Given the description of an element on the screen output the (x, y) to click on. 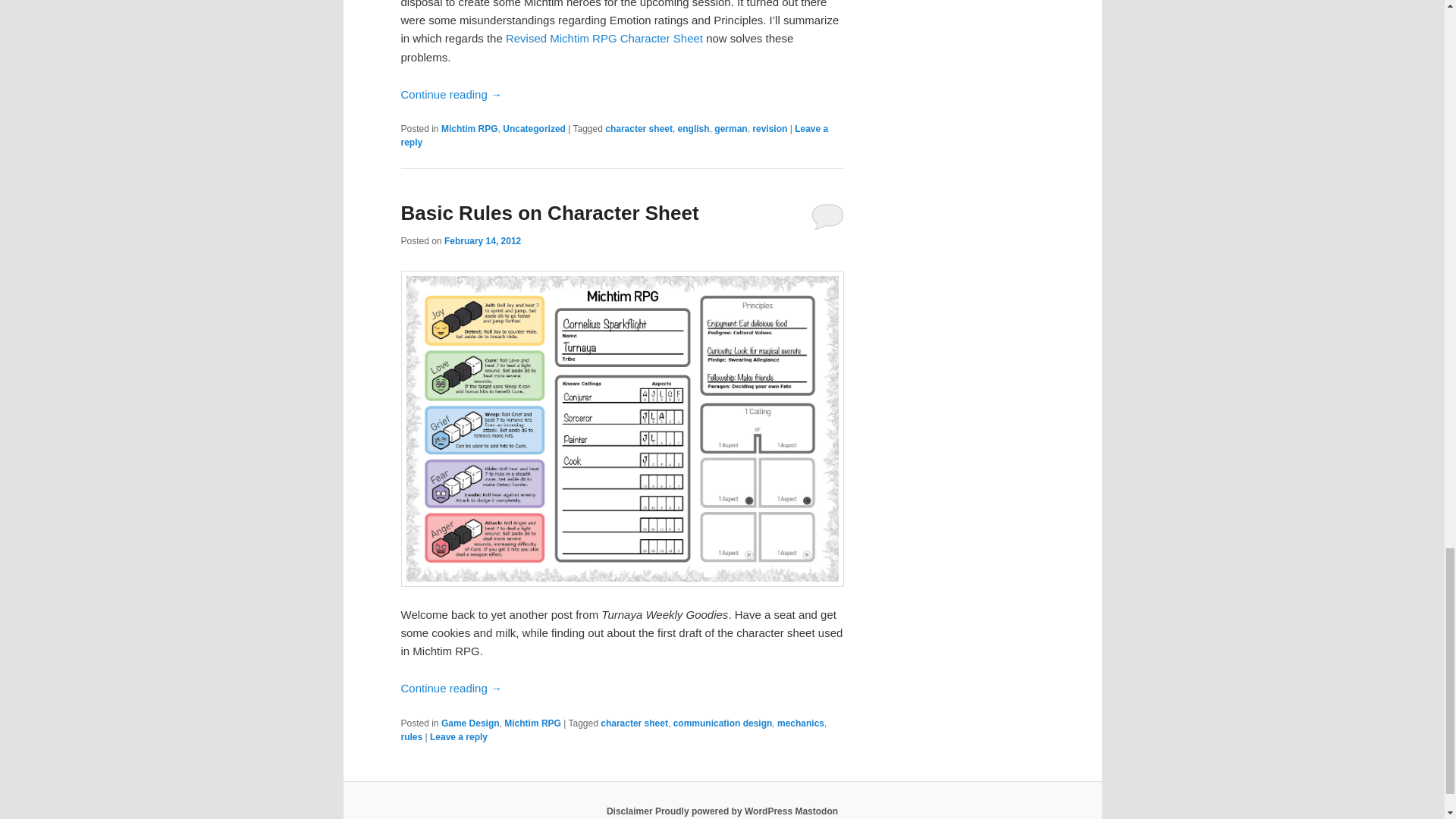
English Michtim RPG Character Sheet (604, 38)
21:57 (482, 240)
Semantic Personal Publishing Platform (724, 810)
